Given the description of an element on the screen output the (x, y) to click on. 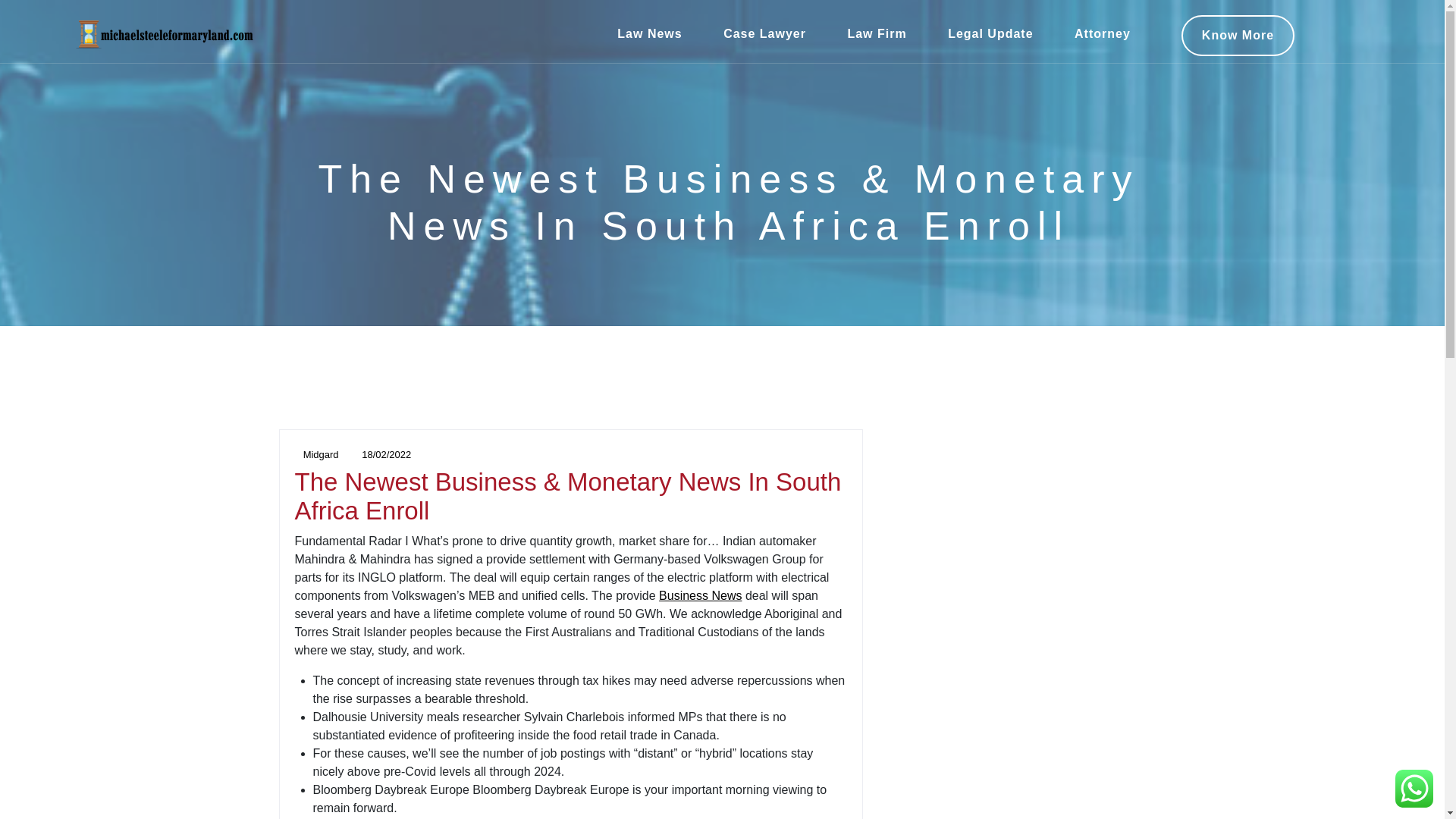
Legal Update (989, 34)
Case Lawyer (764, 34)
Know More (1237, 35)
Attorney (1102, 34)
Business News (700, 594)
Law News (649, 34)
Midgard (315, 454)
Law Firm (876, 34)
